Given the description of an element on the screen output the (x, y) to click on. 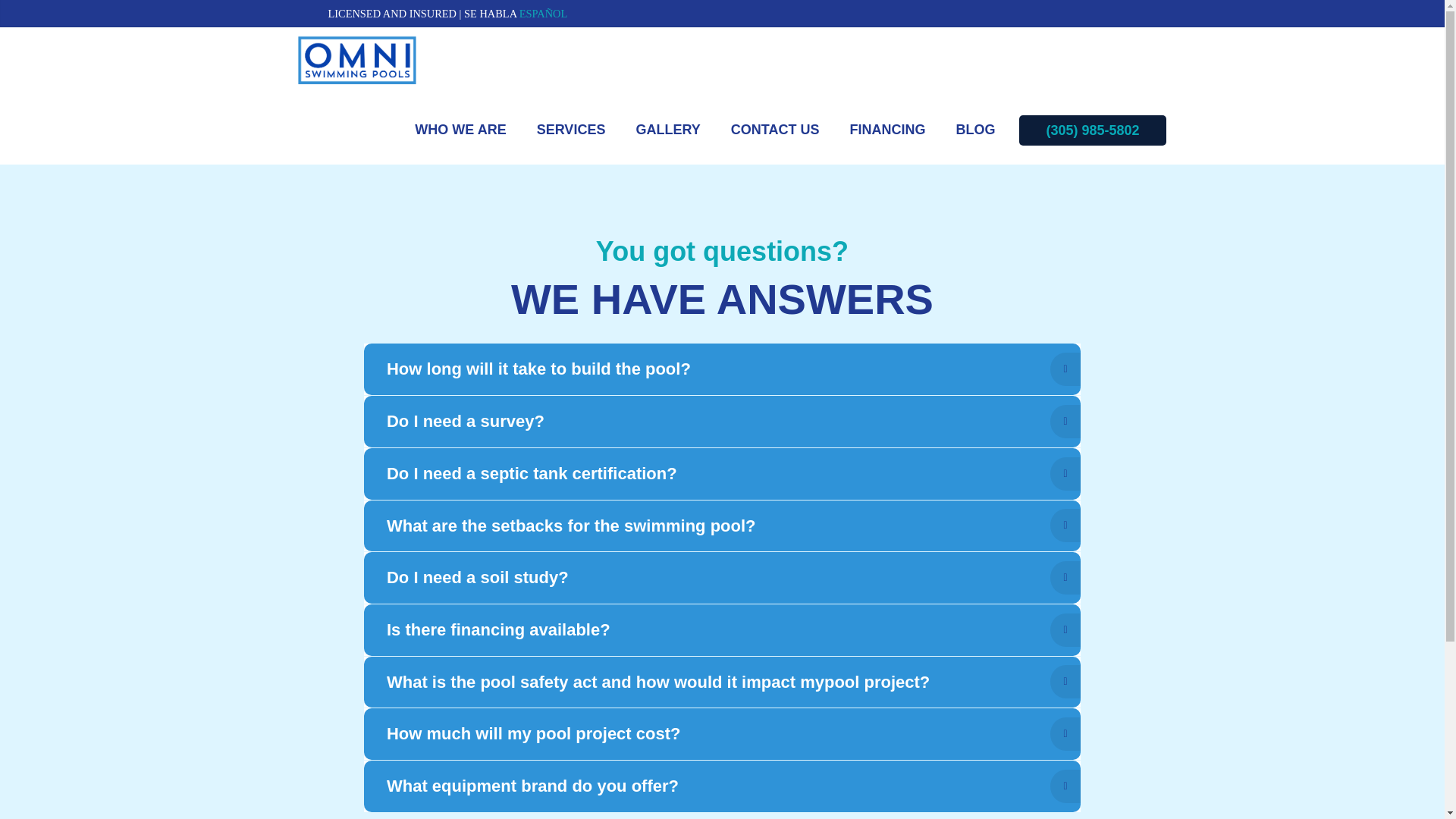
Do I need a soil study? (722, 577)
GALLERY (667, 129)
What are the setbacks for the swimming pool? (722, 525)
Do I need a septic tank certification? (722, 473)
FINANCING (887, 129)
How much will my pool project cost? (722, 733)
SERVICES (571, 129)
BLOG (975, 129)
Do I need a survey? (722, 421)
What equipment brand do you offer? (722, 786)
